Given the description of an element on the screen output the (x, y) to click on. 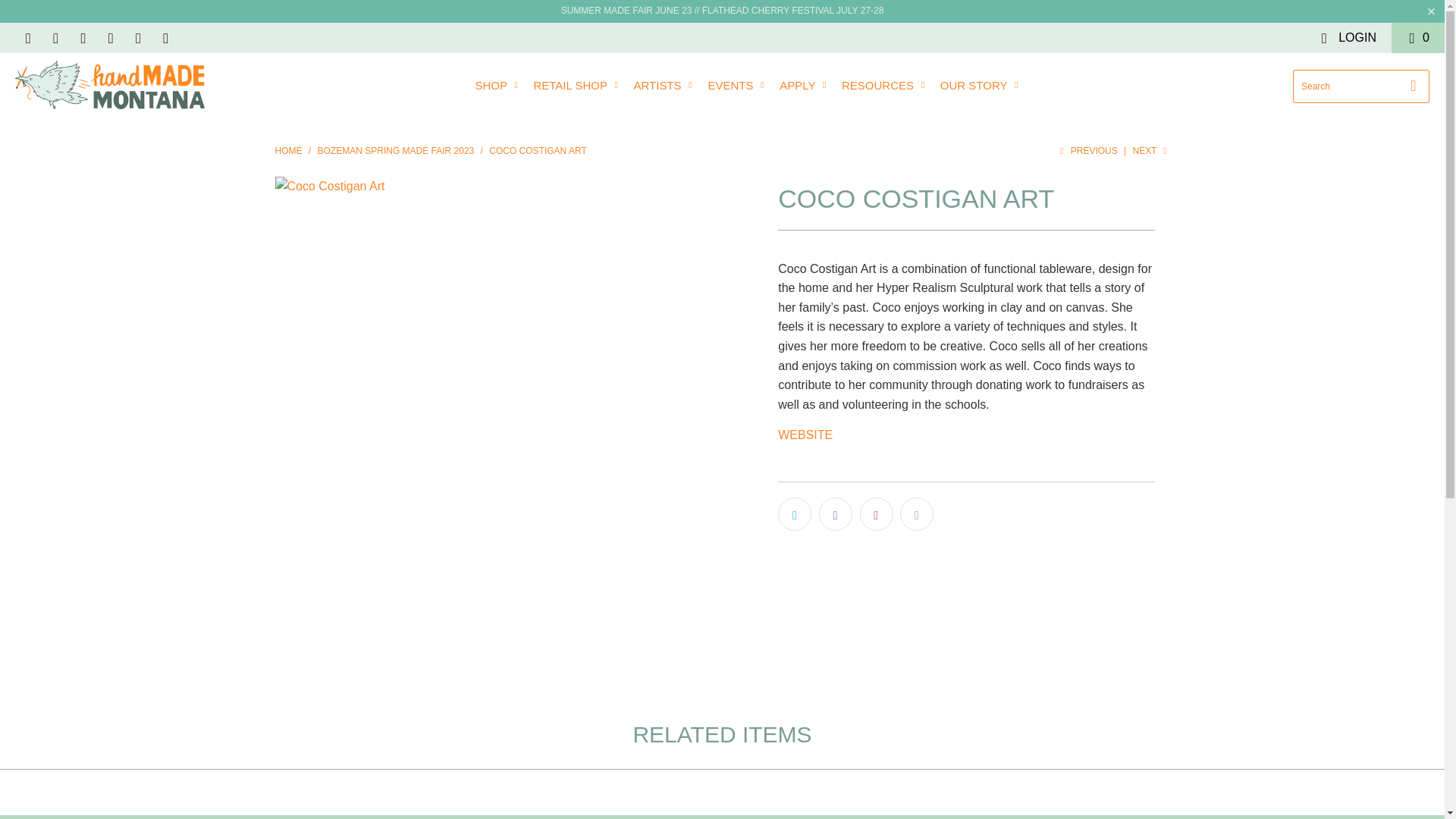
Flathead Cherry Festival (792, 9)
Next (1151, 150)
Summer MADE fair (626, 9)
handMADE Montana on YouTube (82, 37)
handMADE Montana on Instagram (137, 37)
My Account  (1347, 37)
handMADE Montana on Pinterest (109, 37)
handMADE Montana (109, 85)
handMADE Montana on Twitter (26, 37)
Email handMADE Montana (164, 37)
handMADE Montana on Facebook (54, 37)
Previous (1086, 150)
